Given the description of an element on the screen output the (x, y) to click on. 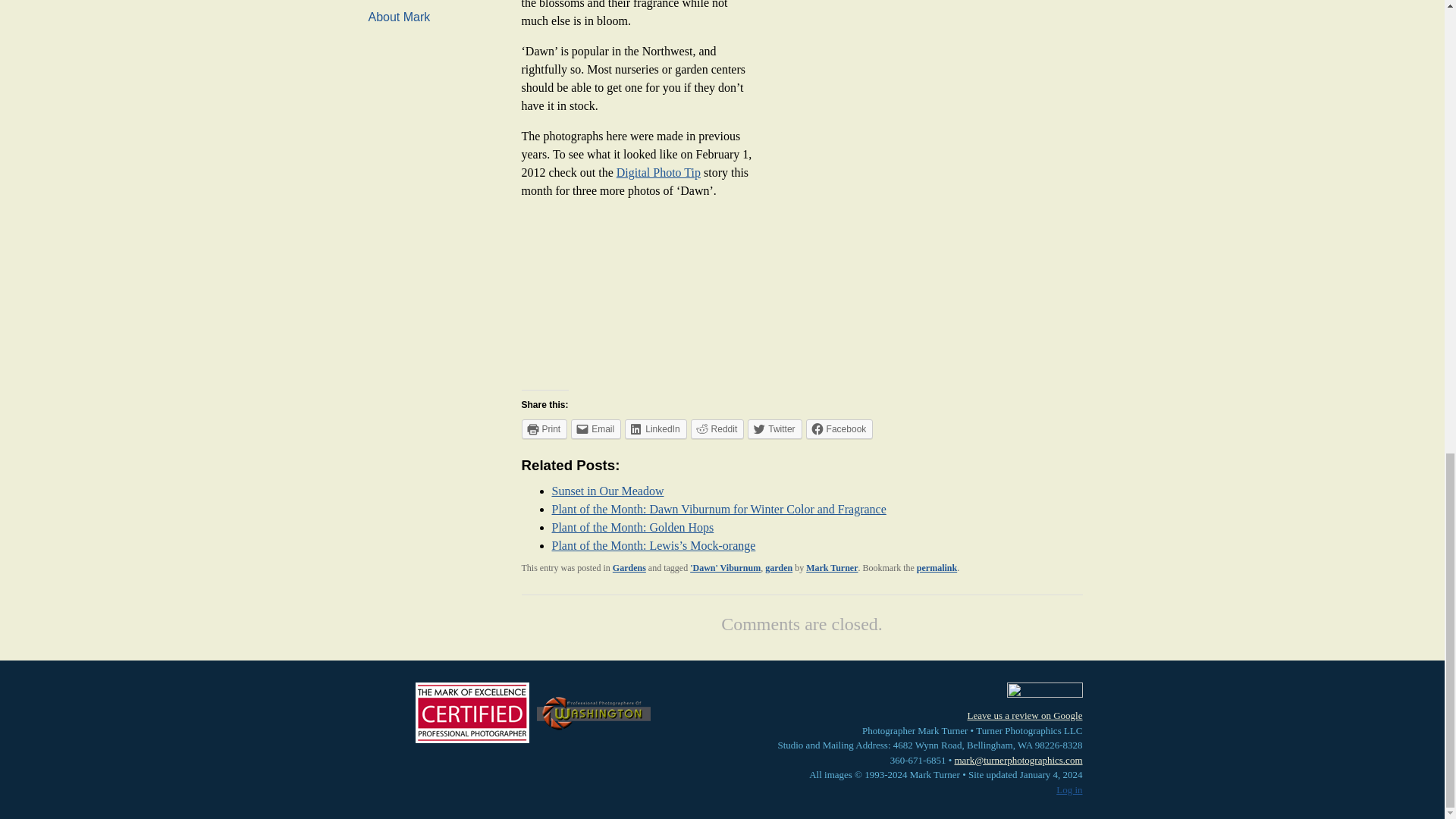
Digital Photo Tip: Concentrate Attention (657, 172)
Gardens (629, 567)
Click to share on Twitter (775, 428)
permalink (936, 567)
garden (778, 567)
LinkedIn (654, 428)
Facebook (839, 428)
Click to share on LinkedIn (654, 428)
Click to share on Facebook (839, 428)
